Given the description of an element on the screen output the (x, y) to click on. 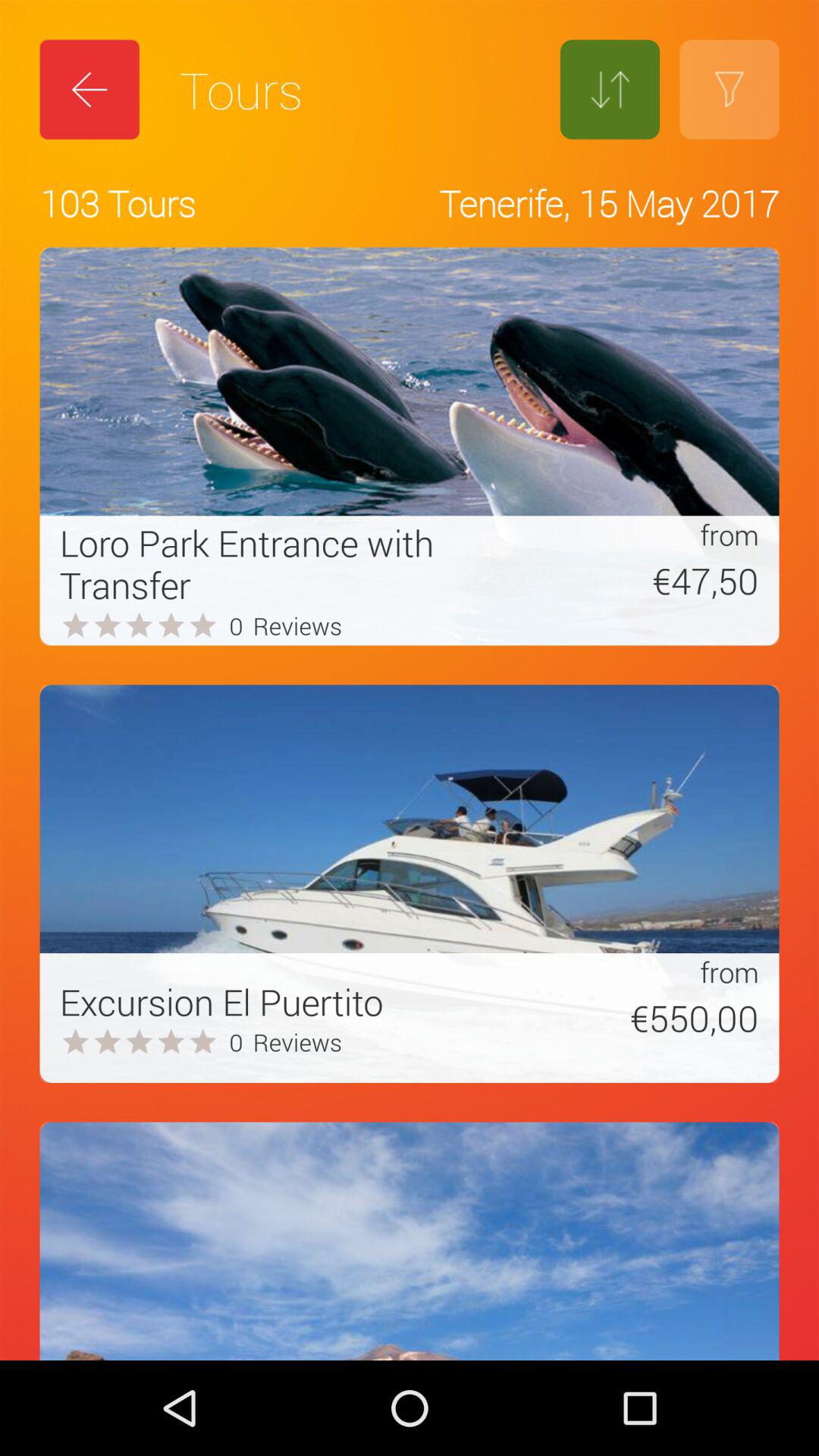
open the icon to the right of the loro park entrance icon (632, 580)
